Given the description of an element on the screen output the (x, y) to click on. 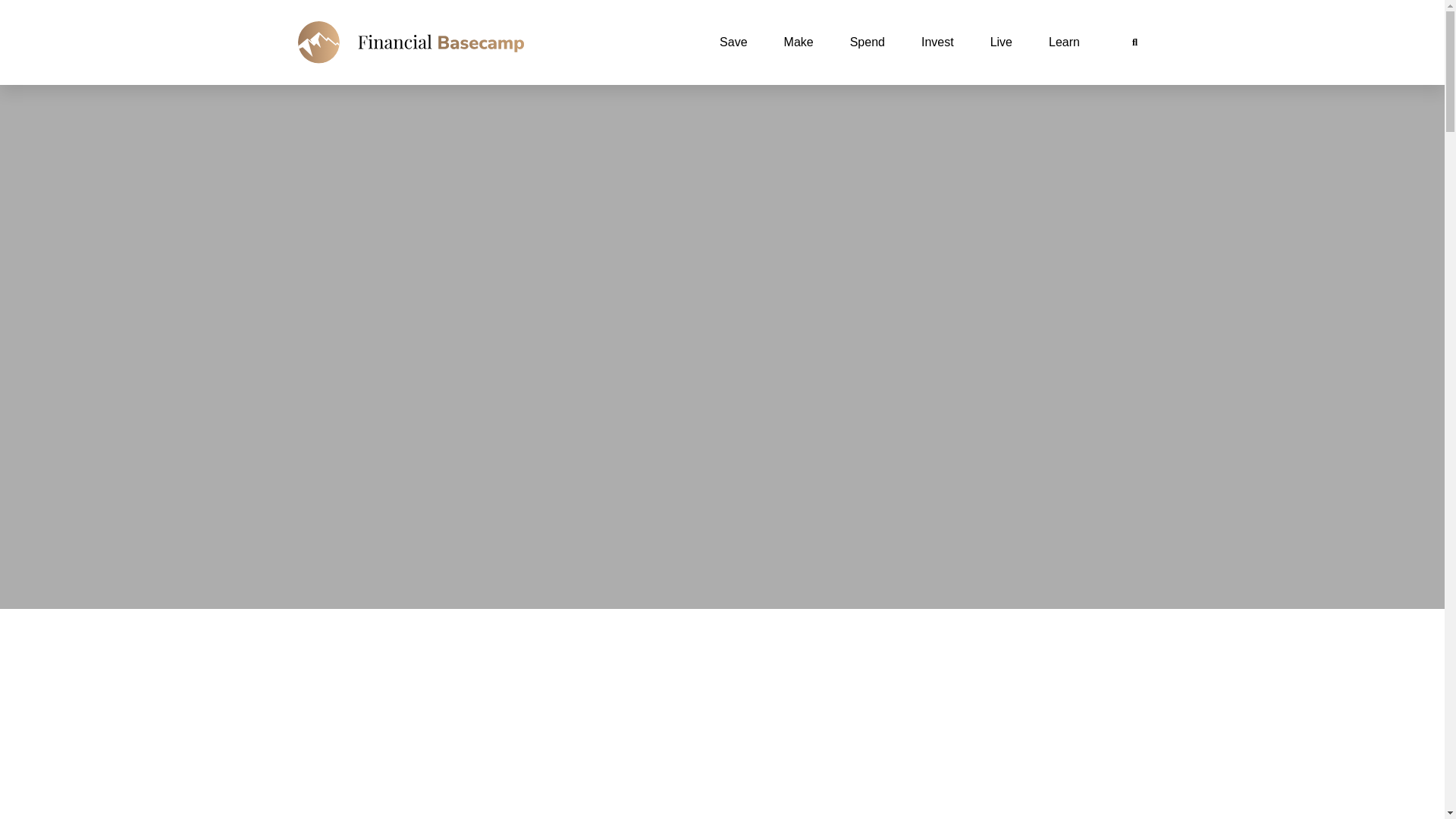
Save (733, 41)
Learn (1063, 41)
Live (1001, 41)
Make (798, 41)
Invest (937, 41)
Spend (866, 41)
